Given the description of an element on the screen output the (x, y) to click on. 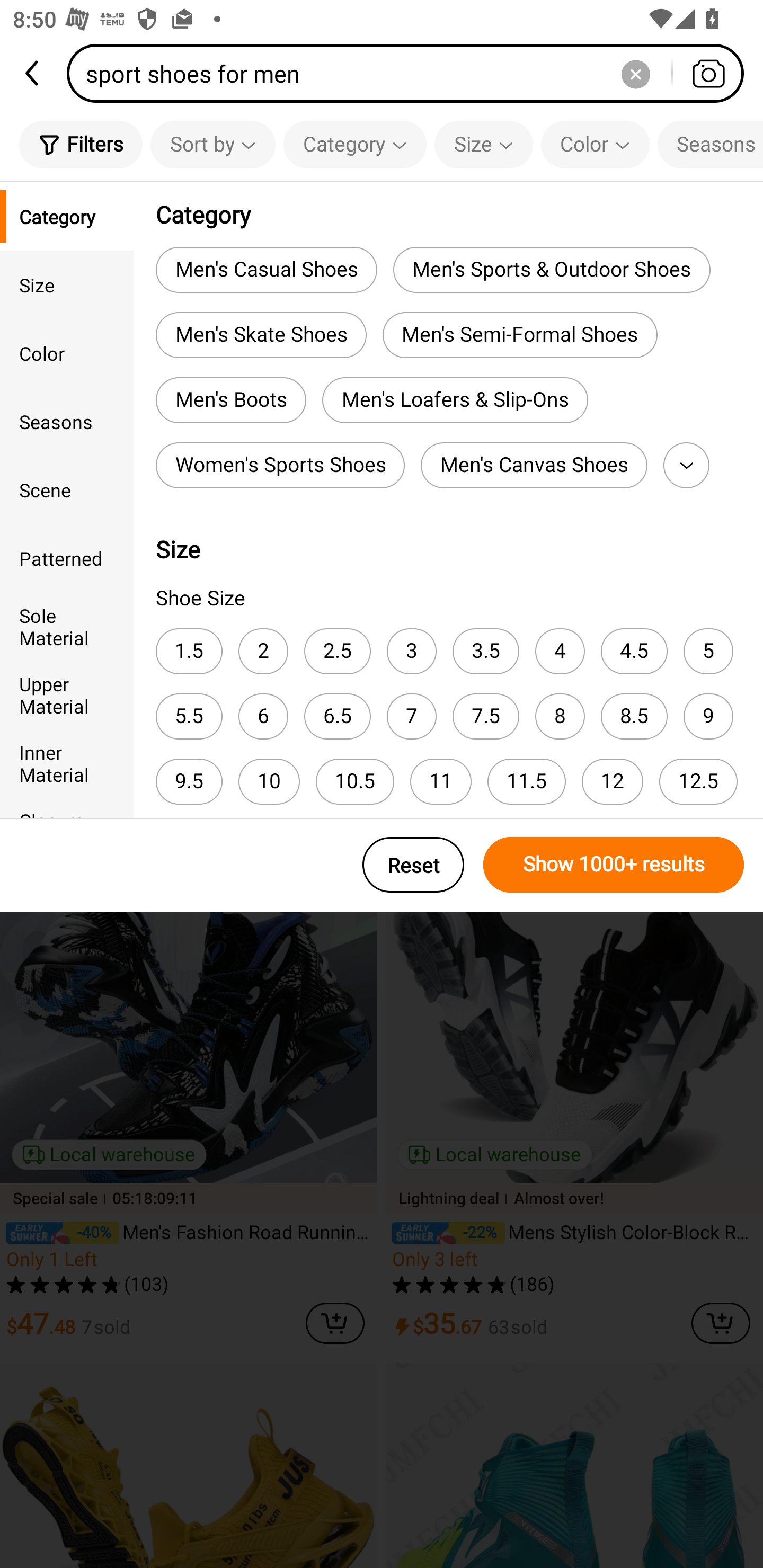
back (33, 72)
sport shoes for men (411, 73)
Delete search history (635, 73)
Search by photo (708, 73)
Filters (80, 143)
Sort by (212, 143)
Category (354, 143)
Size (483, 143)
Color (594, 143)
Seasons (710, 143)
Category (66, 215)
Men's Casual Shoes (265, 269)
Men's Sports & Outdoor Shoes (551, 269)
Size (66, 284)
Men's Skate Shoes (261, 334)
Men's Semi-Formal Shoes (519, 334)
Color (66, 352)
Men's Boots (230, 400)
Men's Loafers & Slip-Ons (454, 400)
Seasons (66, 421)
Women's Sports Shoes (280, 464)
Men's Canvas Shoes (533, 464)
More (686, 464)
Scene (66, 489)
Patterned (66, 557)
Sole Material (66, 626)
1.5 (188, 651)
2 (263, 651)
2.5 (337, 651)
3 (411, 651)
3.5 (485, 651)
4 (559, 651)
4.5 (634, 651)
5 (708, 651)
Upper Material (66, 694)
5.5 (188, 716)
6 (263, 716)
6.5 (337, 716)
7 (411, 716)
7.5 (485, 716)
8 (559, 716)
8.5 (634, 716)
9 (708, 716)
Inner Material (66, 762)
9.5 (188, 781)
10 (268, 781)
10.5 (354, 781)
11 (440, 781)
11.5 (526, 781)
12 (612, 781)
